Given the description of an element on the screen output the (x, y) to click on. 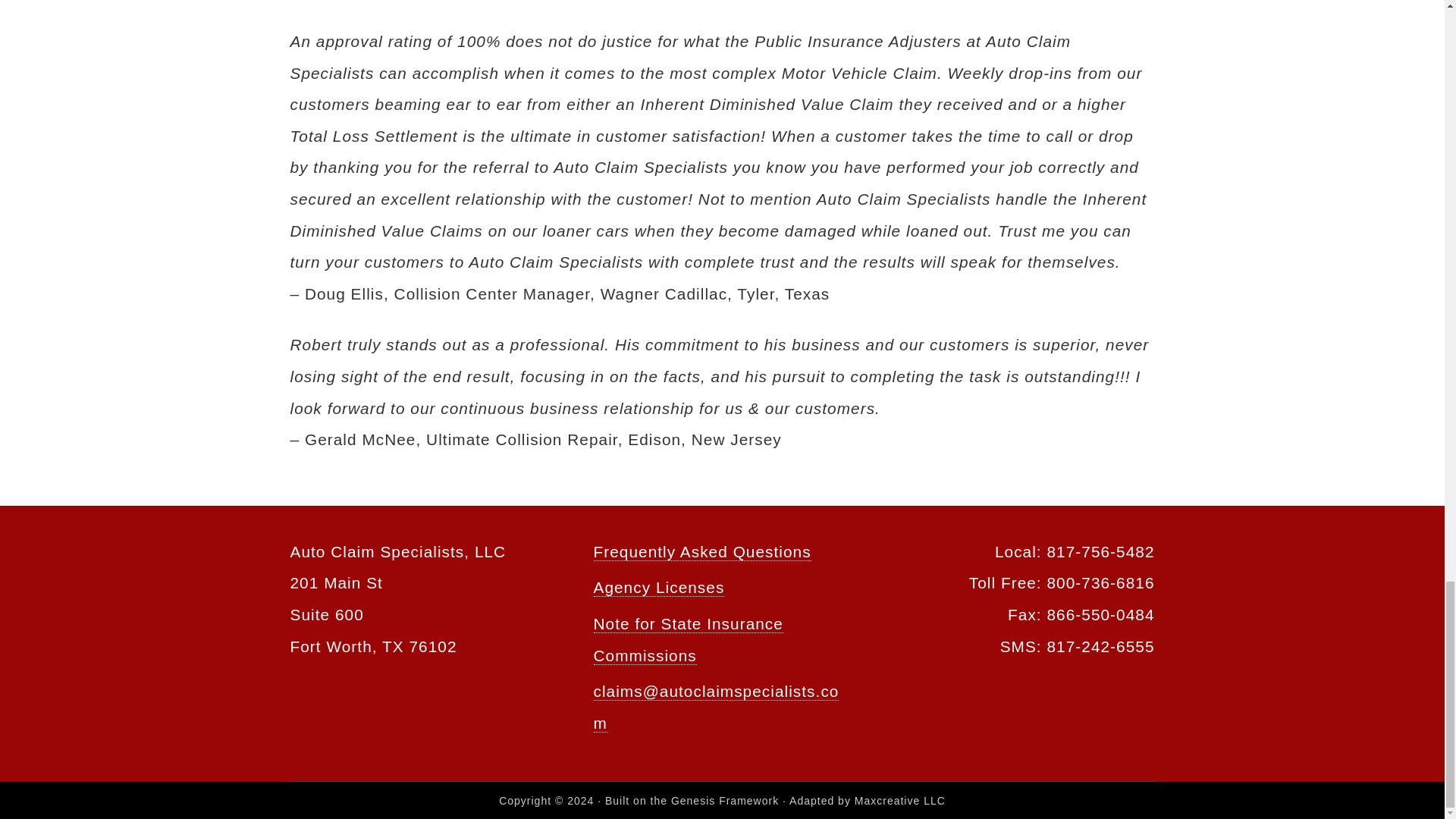
Genesis Framework (724, 800)
Frequently Asked Questions (701, 551)
Genesis Framework (724, 800)
Note for State Insurance Commissions (687, 640)
Agency Licenses (657, 587)
Maxcreative LLC (899, 800)
